Given the description of an element on the screen output the (x, y) to click on. 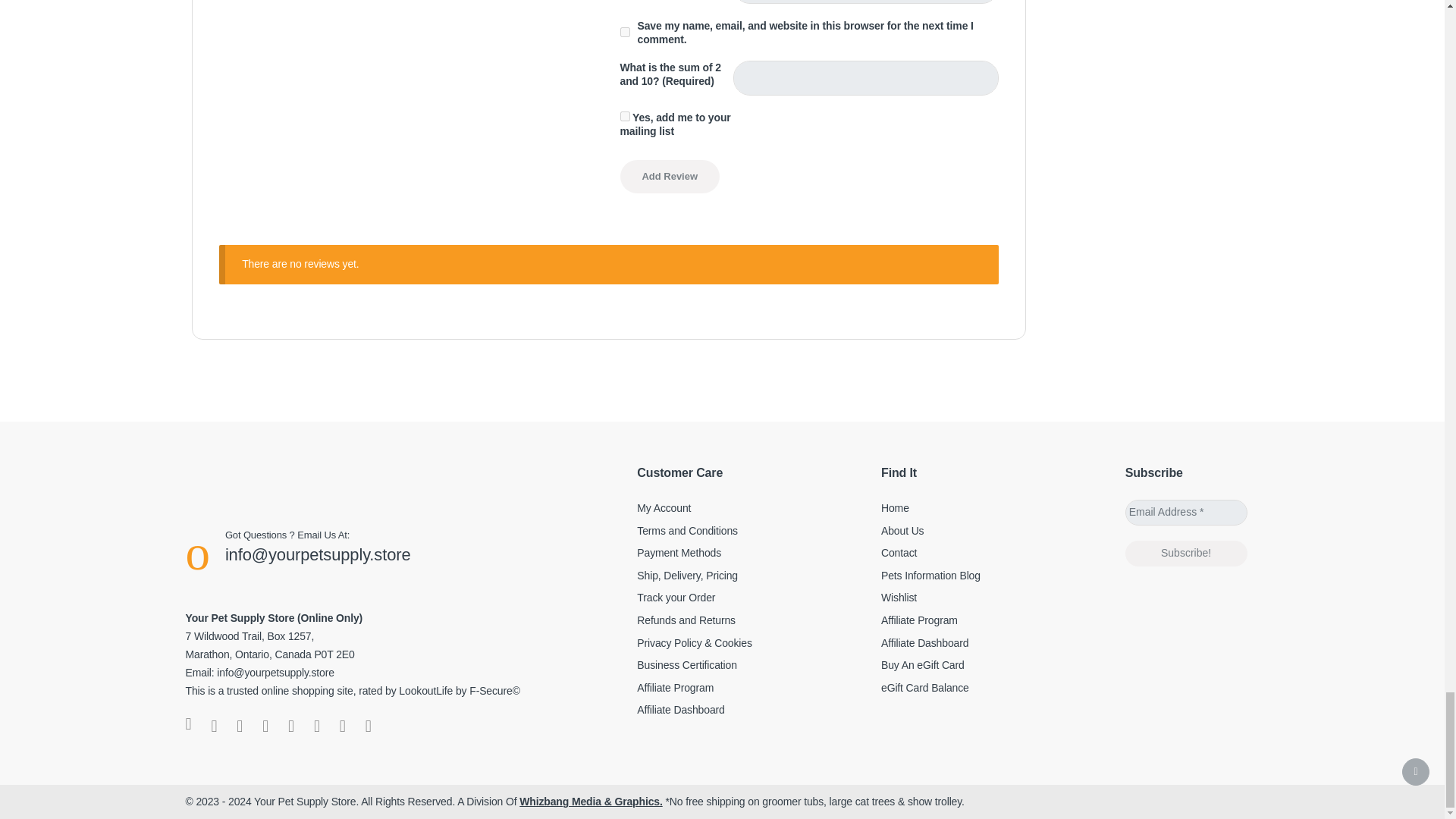
Add Review (669, 176)
Subscribe! (1186, 553)
yes (625, 31)
1 (625, 116)
